Given the description of an element on the screen output the (x, y) to click on. 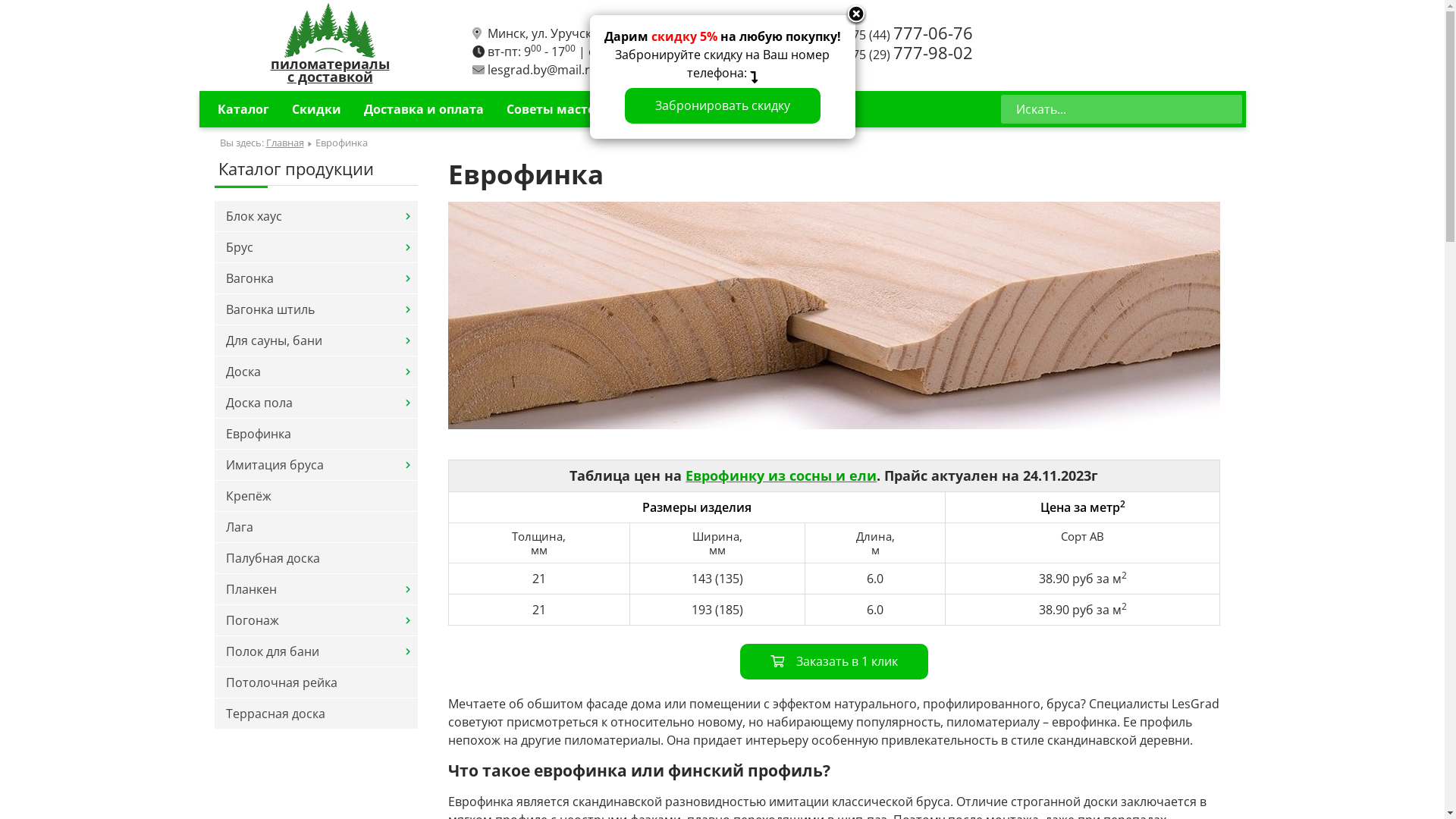
lesgrad.by@mail.ru Element type: text (541, 69)
LesGrad.by Element type: hover (329, 30)
+375 (29) 777-98-02 Element type: text (905, 54)
+375 (44) 777-06-76 Element type: text (905, 34)
